Given the description of an element on the screen output the (x, y) to click on. 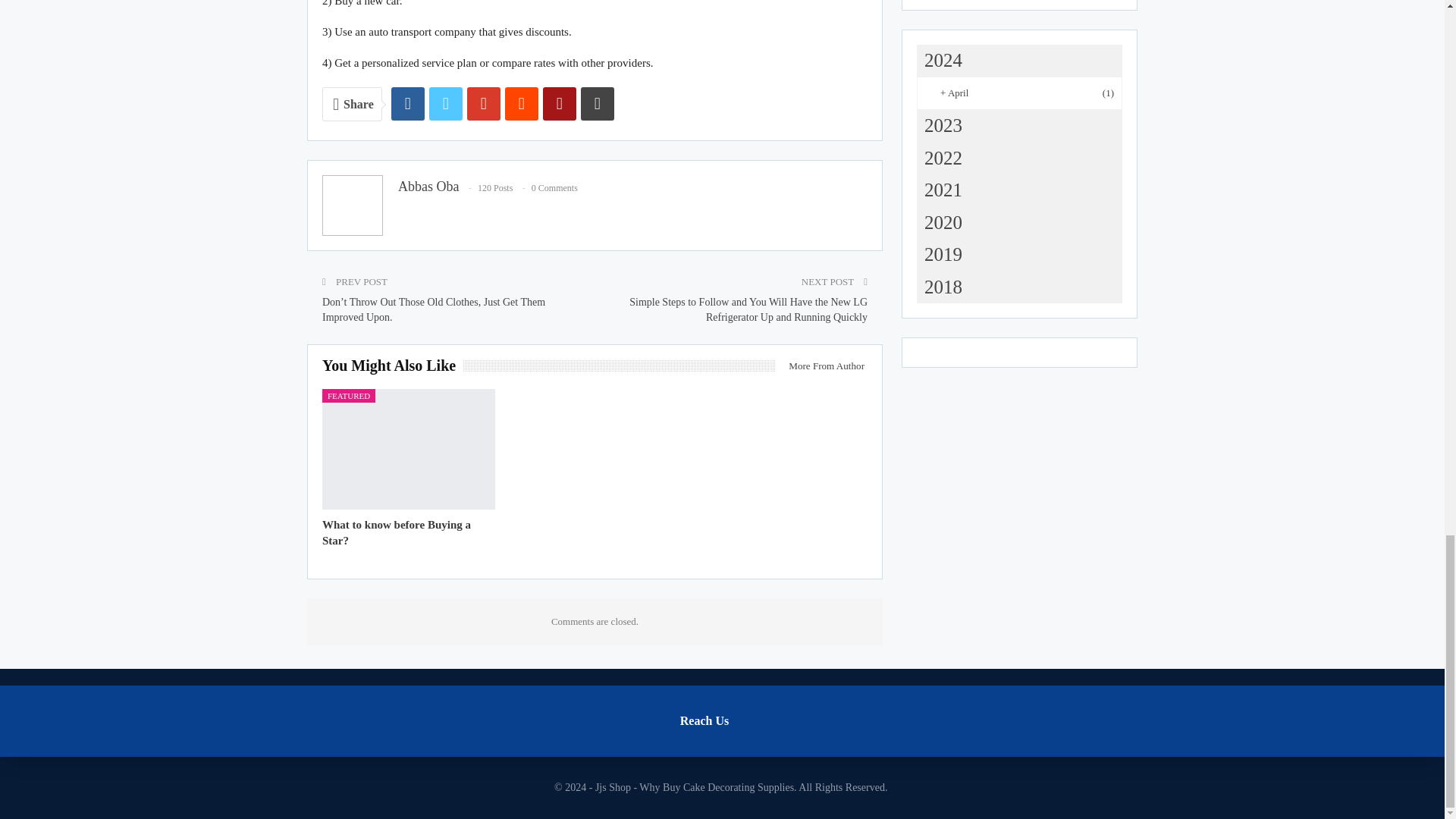
You Might Also Like (392, 366)
What to know before Buying a Star? (395, 532)
Abbas Oba (427, 186)
What to know before Buying a Star? (408, 449)
